Given the description of an element on the screen output the (x, y) to click on. 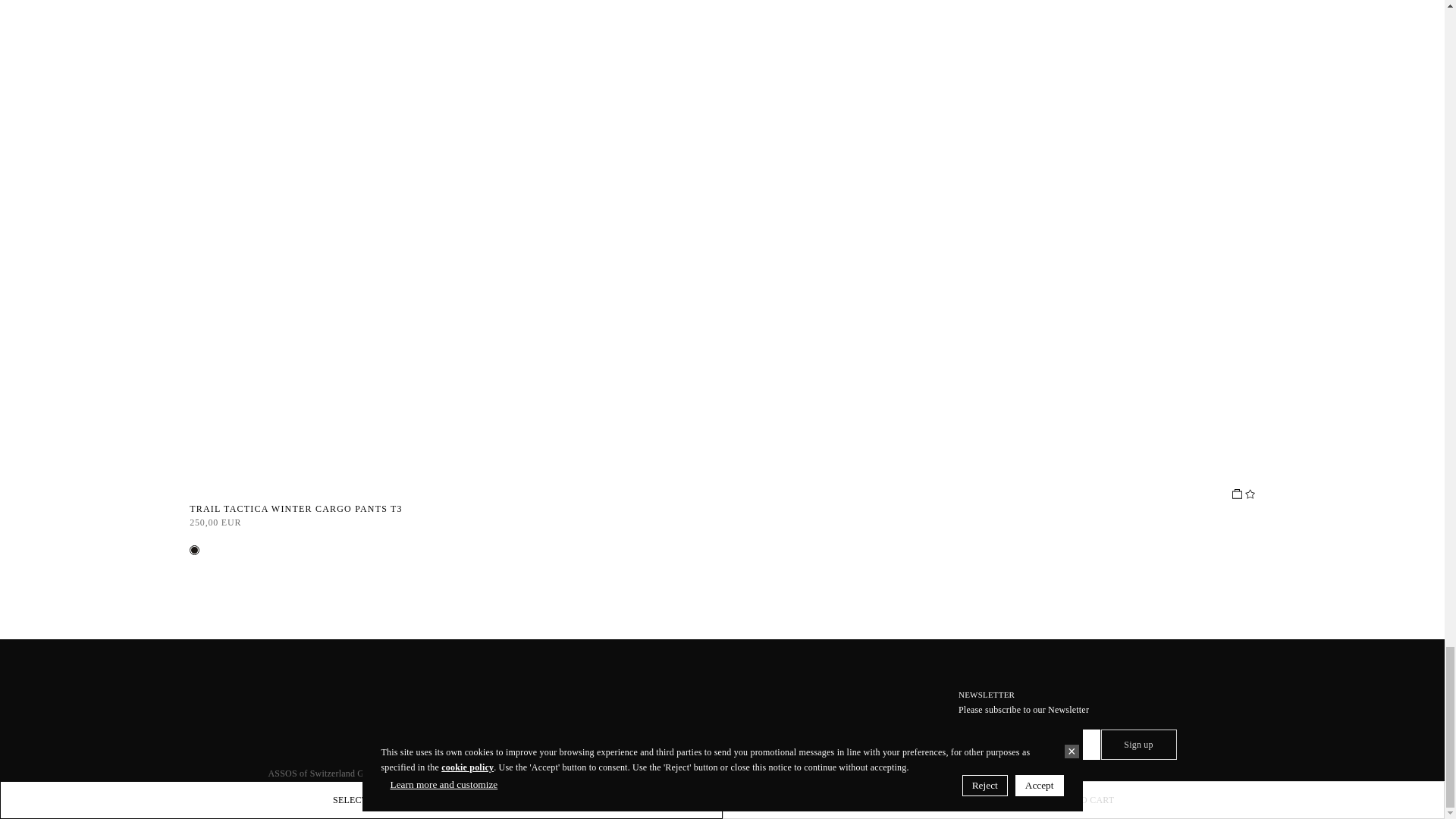
Add to Wishlist (1248, 493)
Sign up (1138, 744)
TRAIL TACTICA WINTER CARGO PANTS T3 (721, 508)
blackSeries (194, 550)
